Given the description of an element on the screen output the (x, y) to click on. 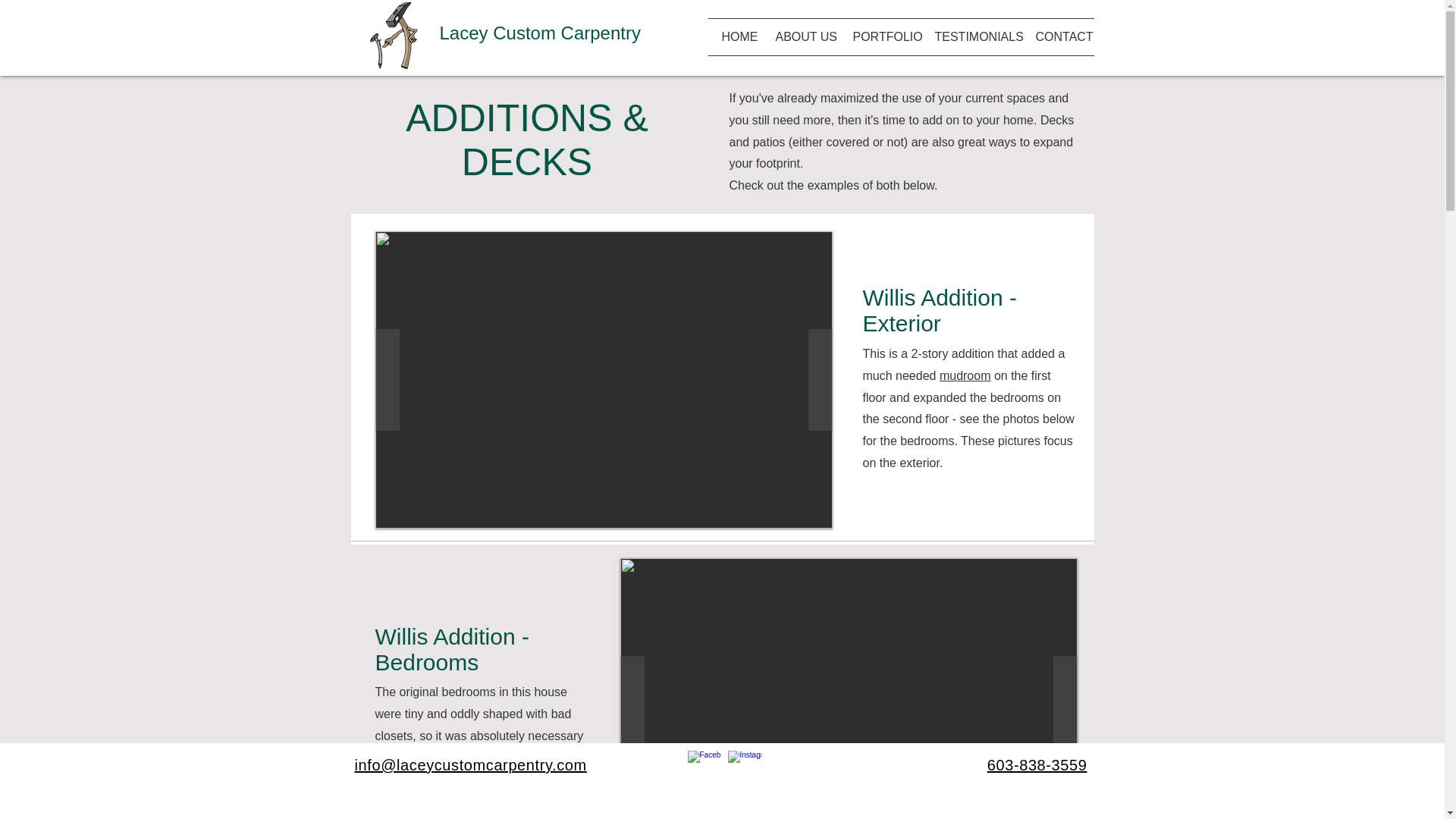
CONTACT (1058, 36)
ABOUT US (802, 36)
PORTFOLIO (882, 36)
TESTIMONIALS (974, 36)
HOME (736, 36)
mudroom (965, 375)
Lacey Custom Carpentry (539, 32)
